Given the description of an element on the screen output the (x, y) to click on. 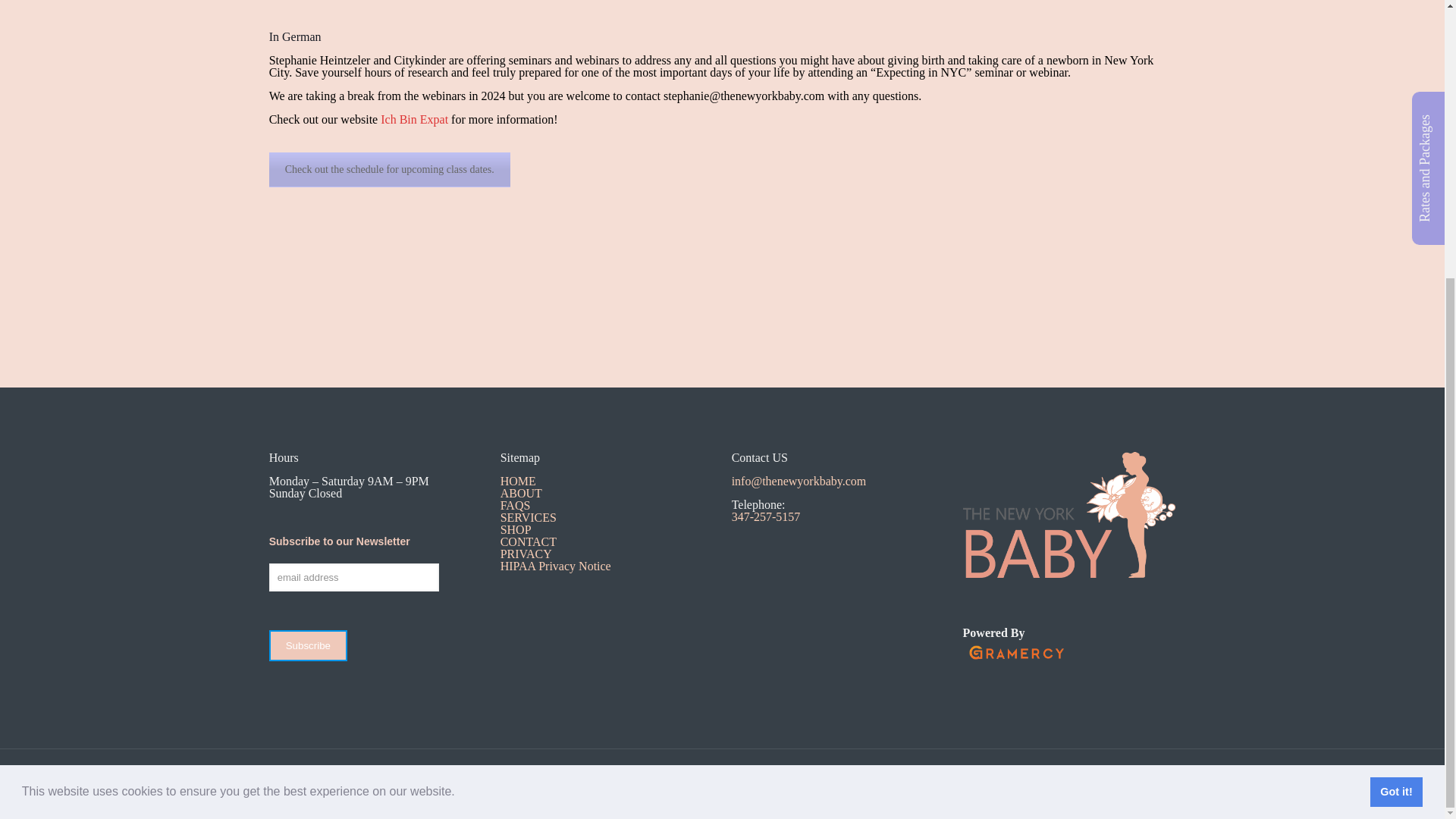
Twitter (722, 797)
Got it! (1396, 378)
Subscribe (308, 644)
Facebook (702, 797)
LinkedIn (743, 797)
